Given the description of an element on the screen output the (x, y) to click on. 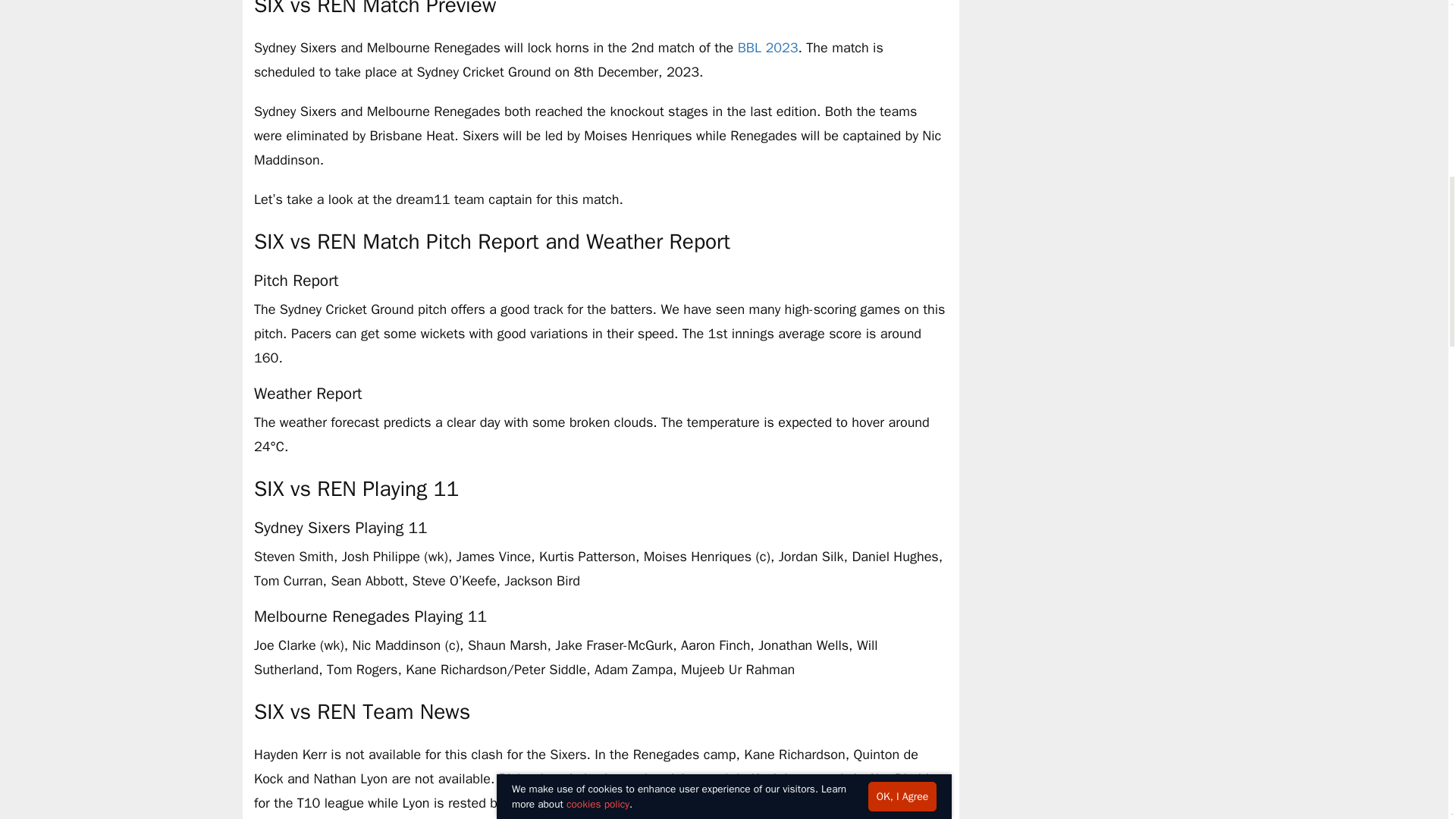
BBL 2023 (767, 47)
